Given the description of an element on the screen output the (x, y) to click on. 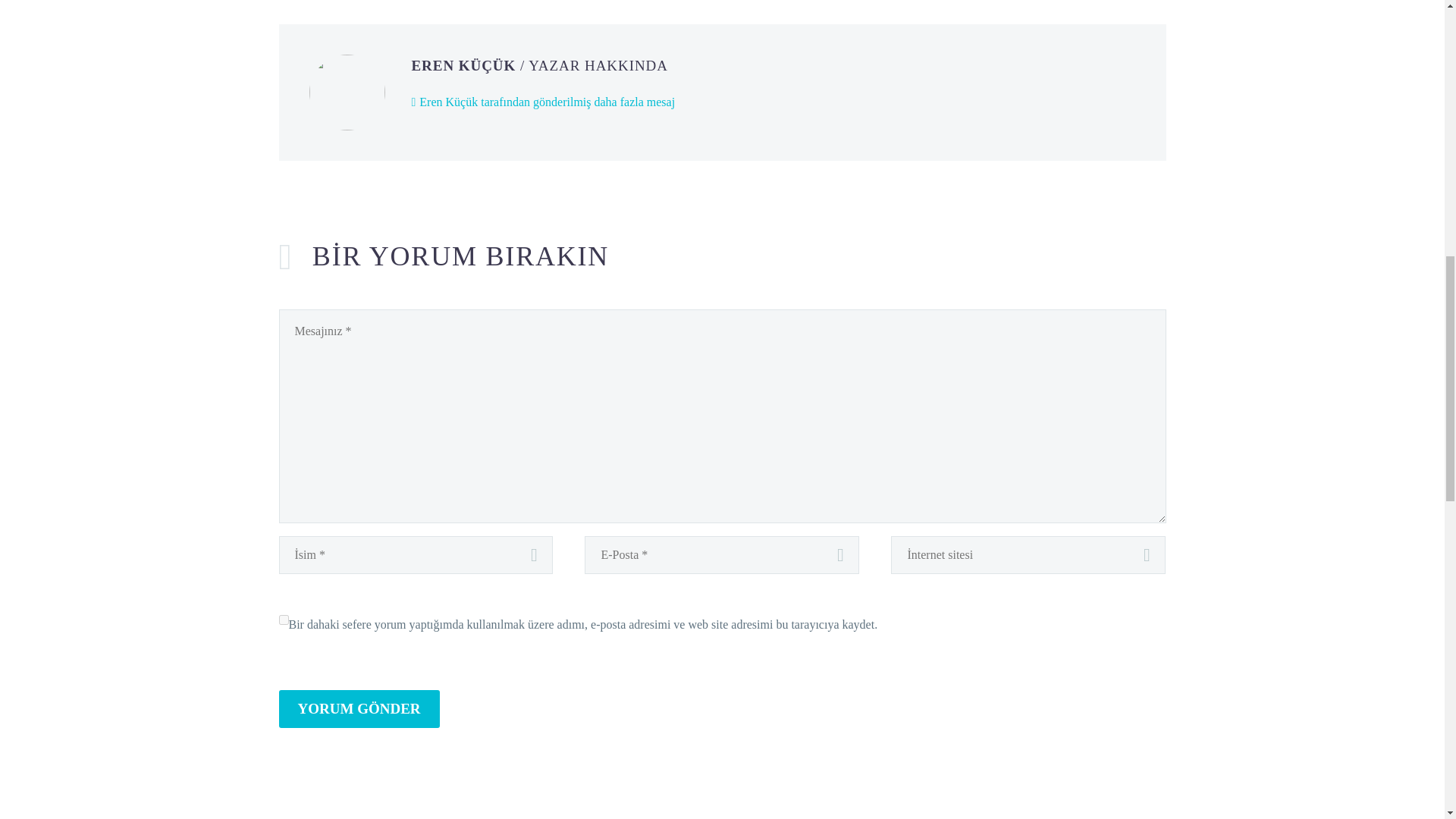
yes (283, 619)
